Given the description of an element on the screen output the (x, y) to click on. 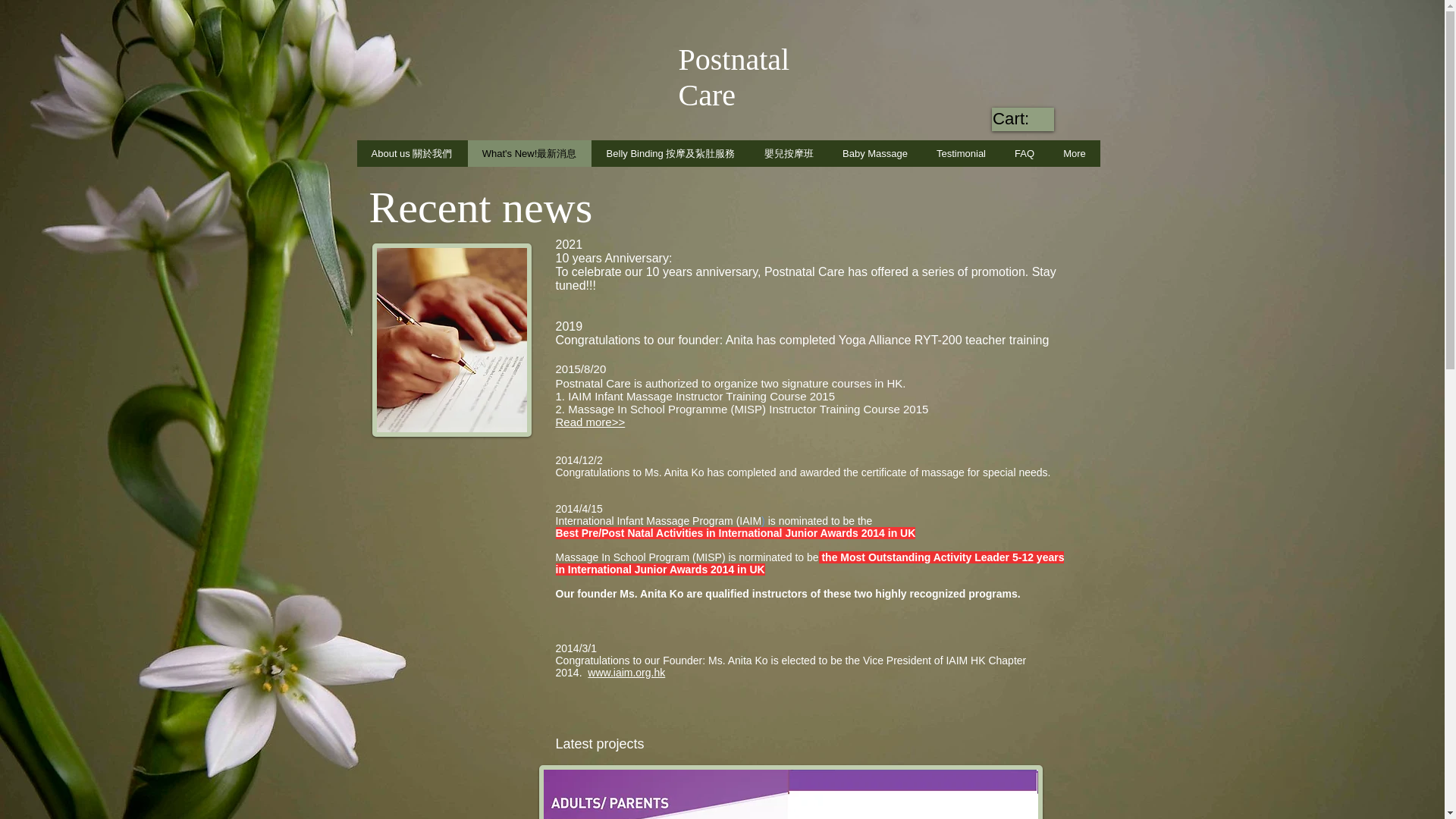
FAQ (1023, 153)
www.iaim.org.hk (626, 672)
Cart: (1021, 117)
Baby Massage (874, 153)
Testimonial (960, 153)
Cart: (1021, 117)
